Given the description of an element on the screen output the (x, y) to click on. 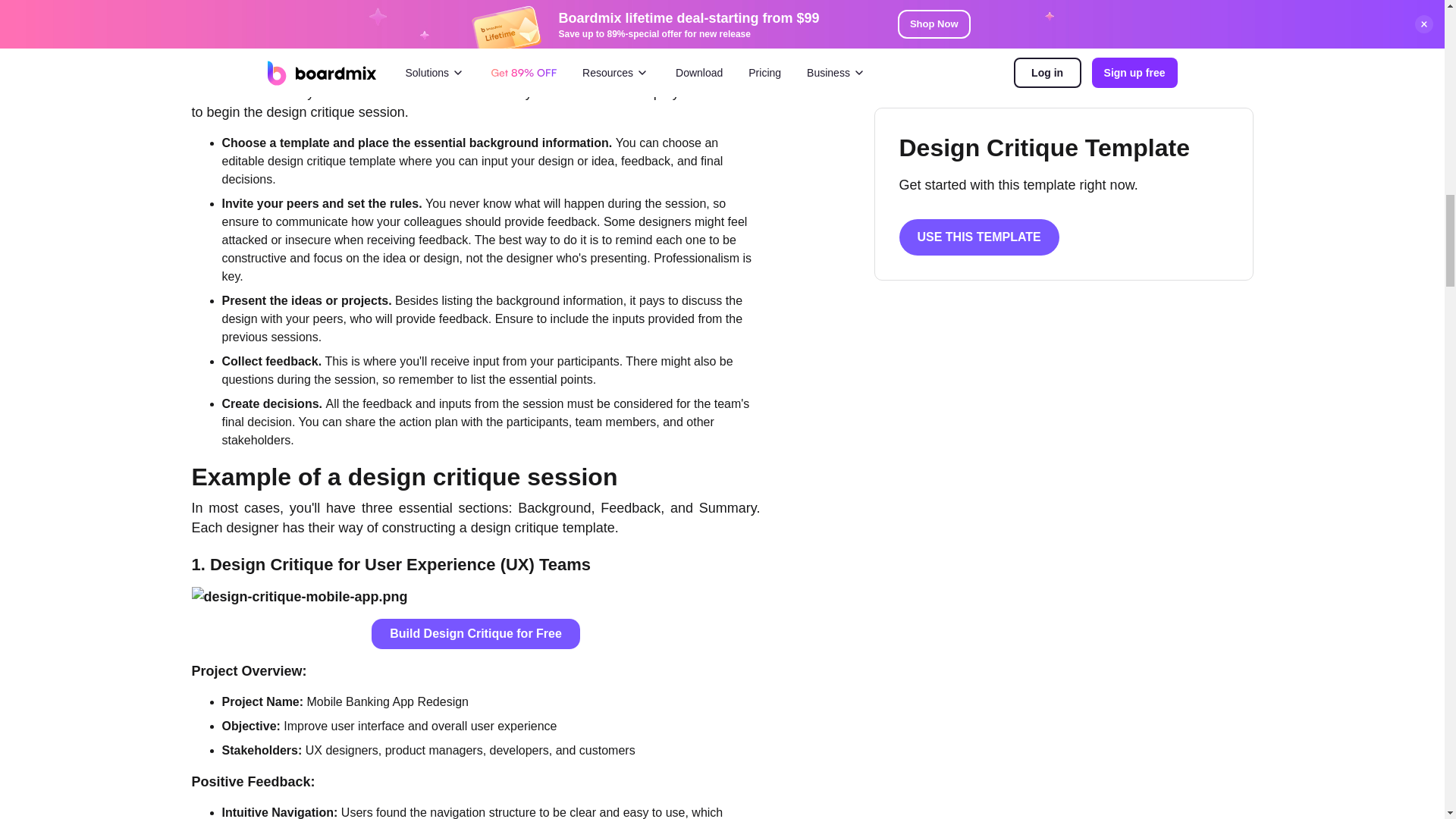
Build Design Critique for Free (475, 634)
